Given the description of an element on the screen output the (x, y) to click on. 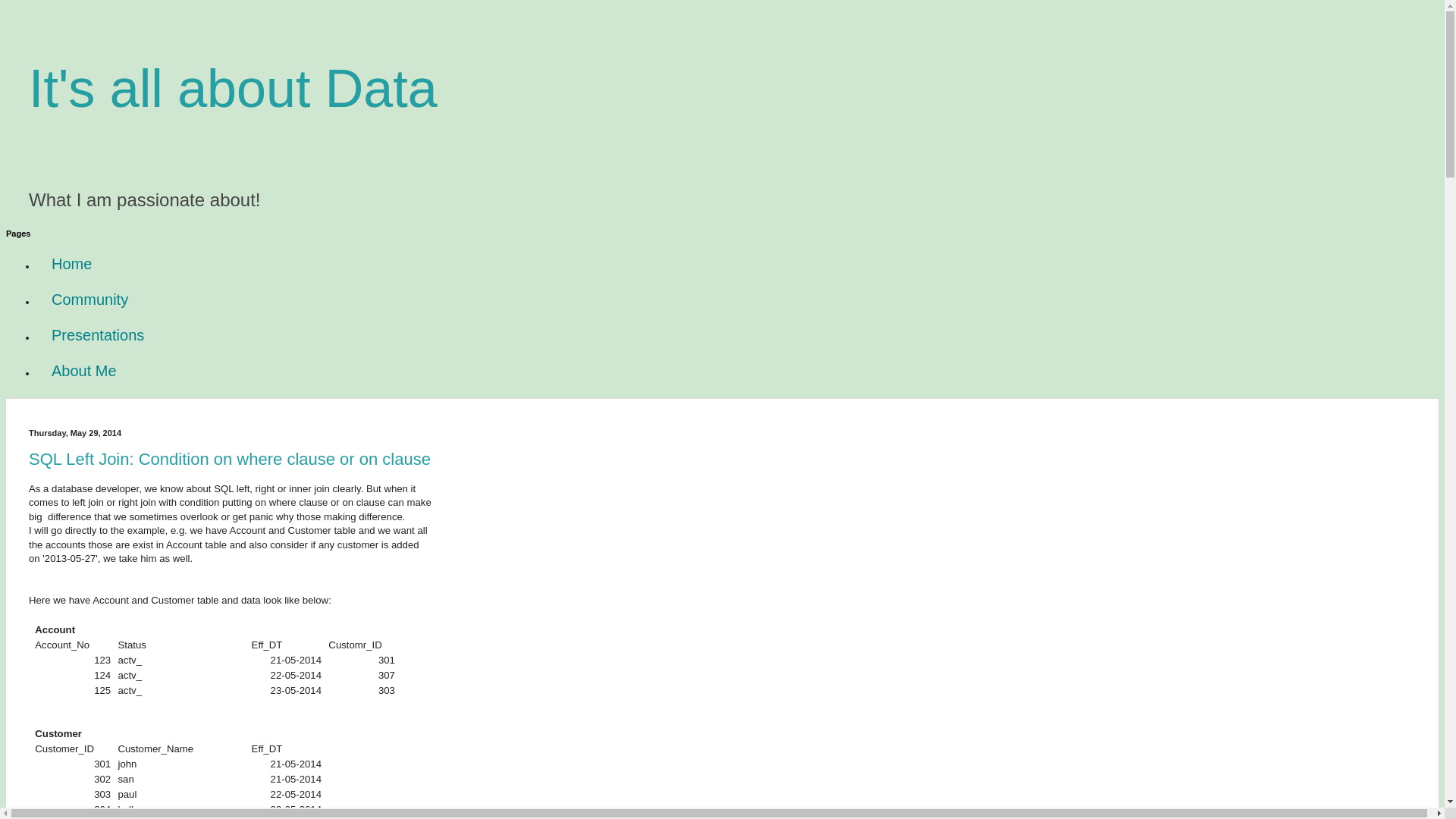
About Me Element type: text (83, 371)
Community Element type: text (89, 299)
SQL Left Join: Condition on where clause or on clause Element type: text (229, 458)
Presentations Element type: text (97, 335)
Home Element type: text (71, 264)
It's all about Data Element type: text (232, 88)
